Given the description of an element on the screen output the (x, y) to click on. 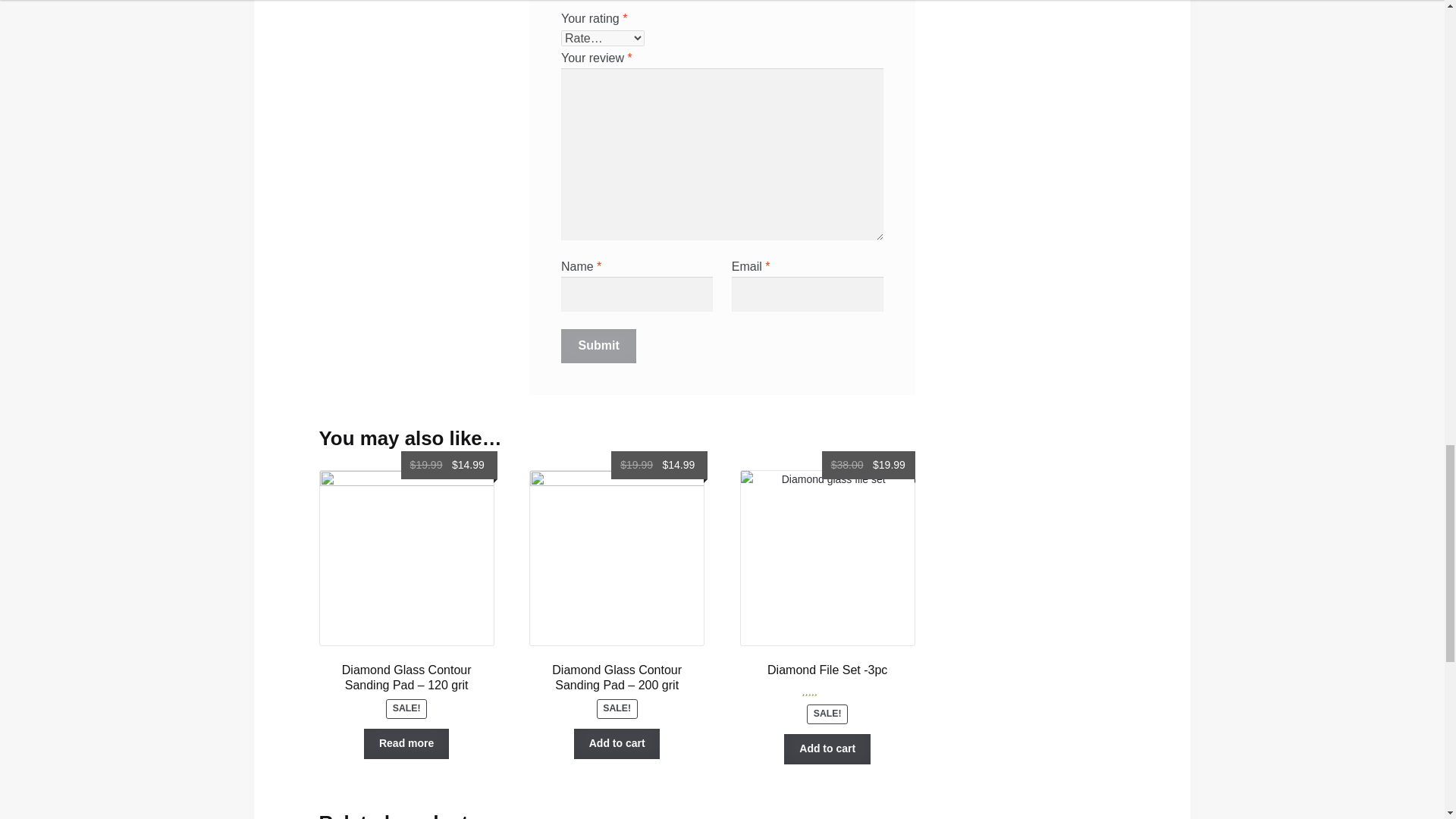
Submit (598, 346)
